Given the description of an element on the screen output the (x, y) to click on. 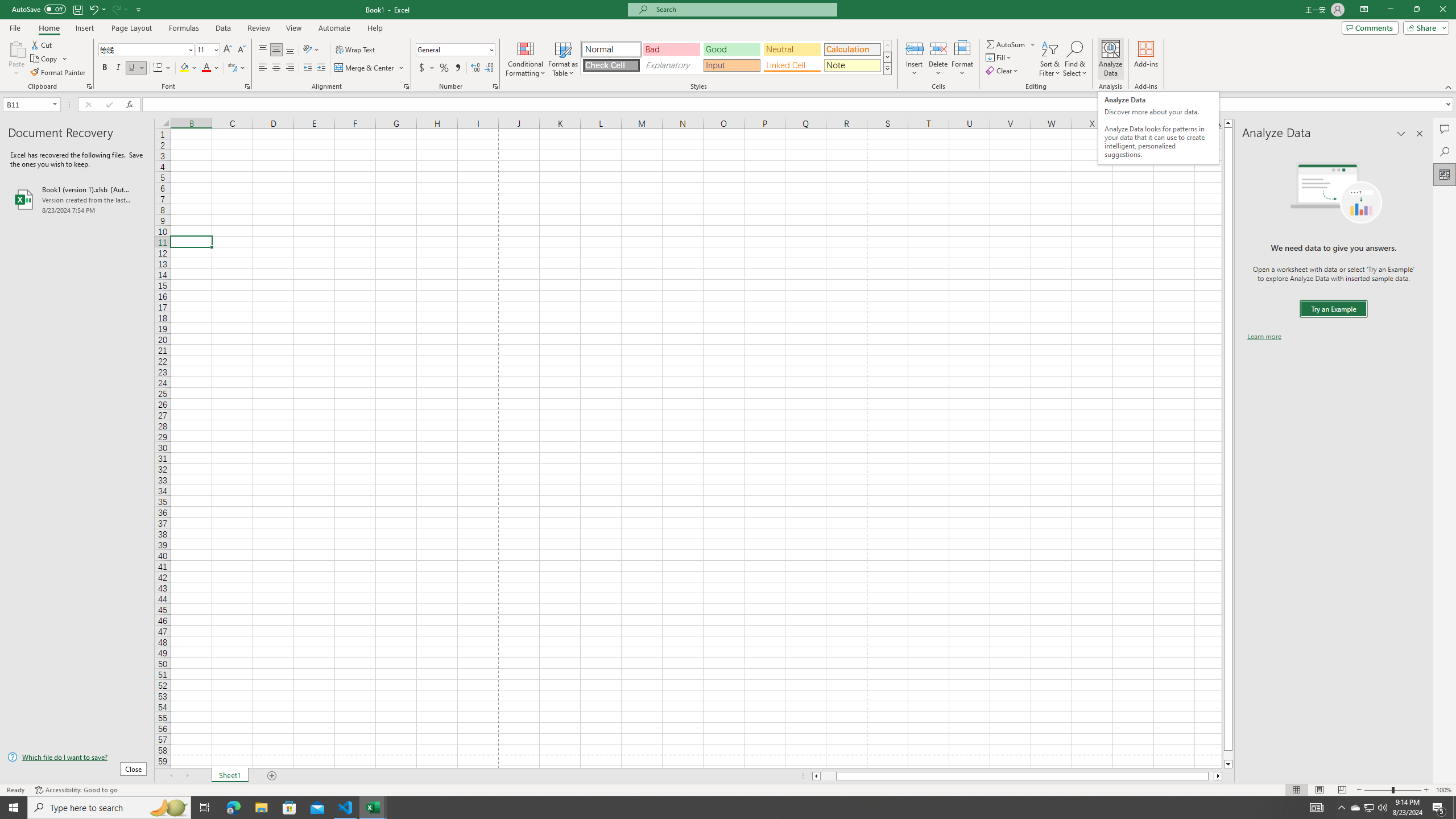
We need data to give you answers. Try an Example (1333, 308)
Restore Down (1416, 9)
Increase Indent (320, 67)
AutomationID: CellStylesGallery (736, 57)
Neutral (791, 49)
Analyze Data (1444, 173)
Center (276, 67)
Analyze Data (1110, 58)
Font Size (207, 49)
Zoom (1392, 790)
Scroll Right (187, 775)
Comma Style (457, 67)
Learn more (1264, 336)
Format Cell Alignment (405, 85)
Align Left (262, 67)
